Given the description of an element on the screen output the (x, y) to click on. 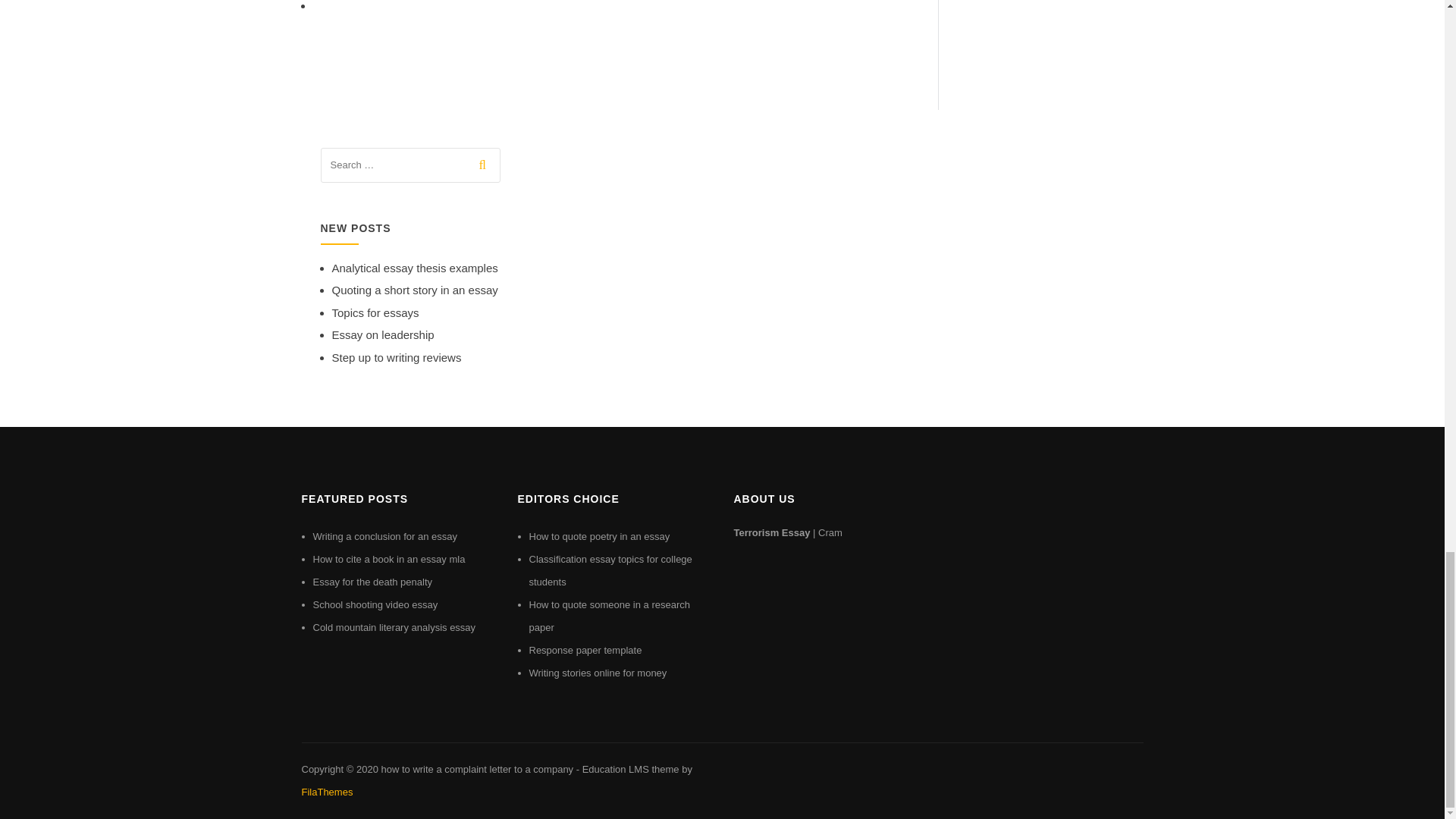
Analytical essay thesis examples (414, 267)
Classification essay topics for college students (611, 570)
how to write a complaint letter to a company (476, 768)
Essay on leadership (382, 334)
Step up to writing reviews (396, 357)
how to write a complaint letter to a company (476, 768)
Topics for essays (375, 312)
How to cite a book in an essay mla (388, 559)
Essay for the death penalty (372, 582)
Quoting a short story in an essay (414, 289)
